Given the description of an element on the screen output the (x, y) to click on. 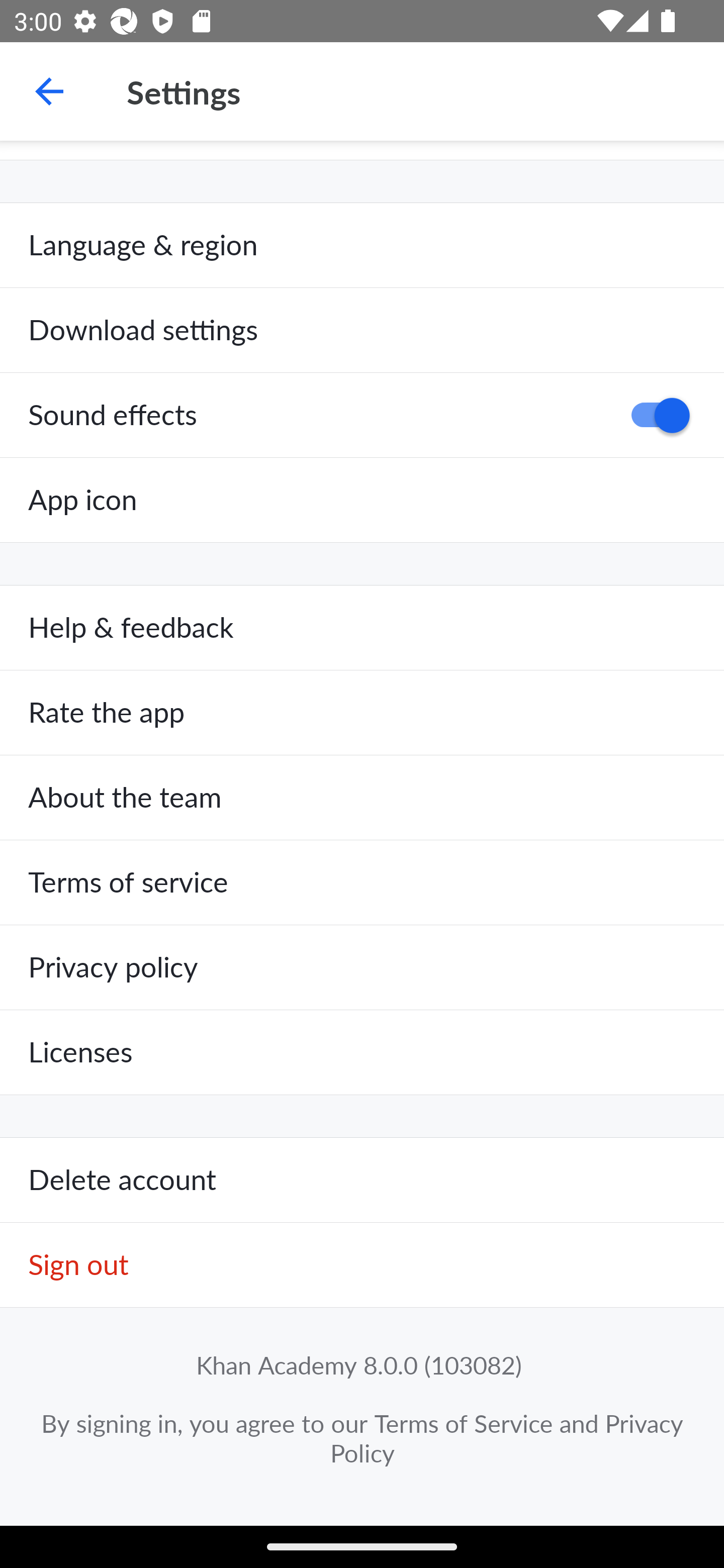
Navigate up (49, 91)
Language & region (362, 245)
Download settings (362, 330)
ON (653, 415)
App icon (362, 499)
Help & feedback (362, 627)
Rate the app (362, 713)
About the team (362, 797)
Terms of service (362, 882)
Privacy policy (362, 967)
Licenses (362, 1051)
Delete account (362, 1180)
Sign out (362, 1265)
